Given the description of an element on the screen output the (x, y) to click on. 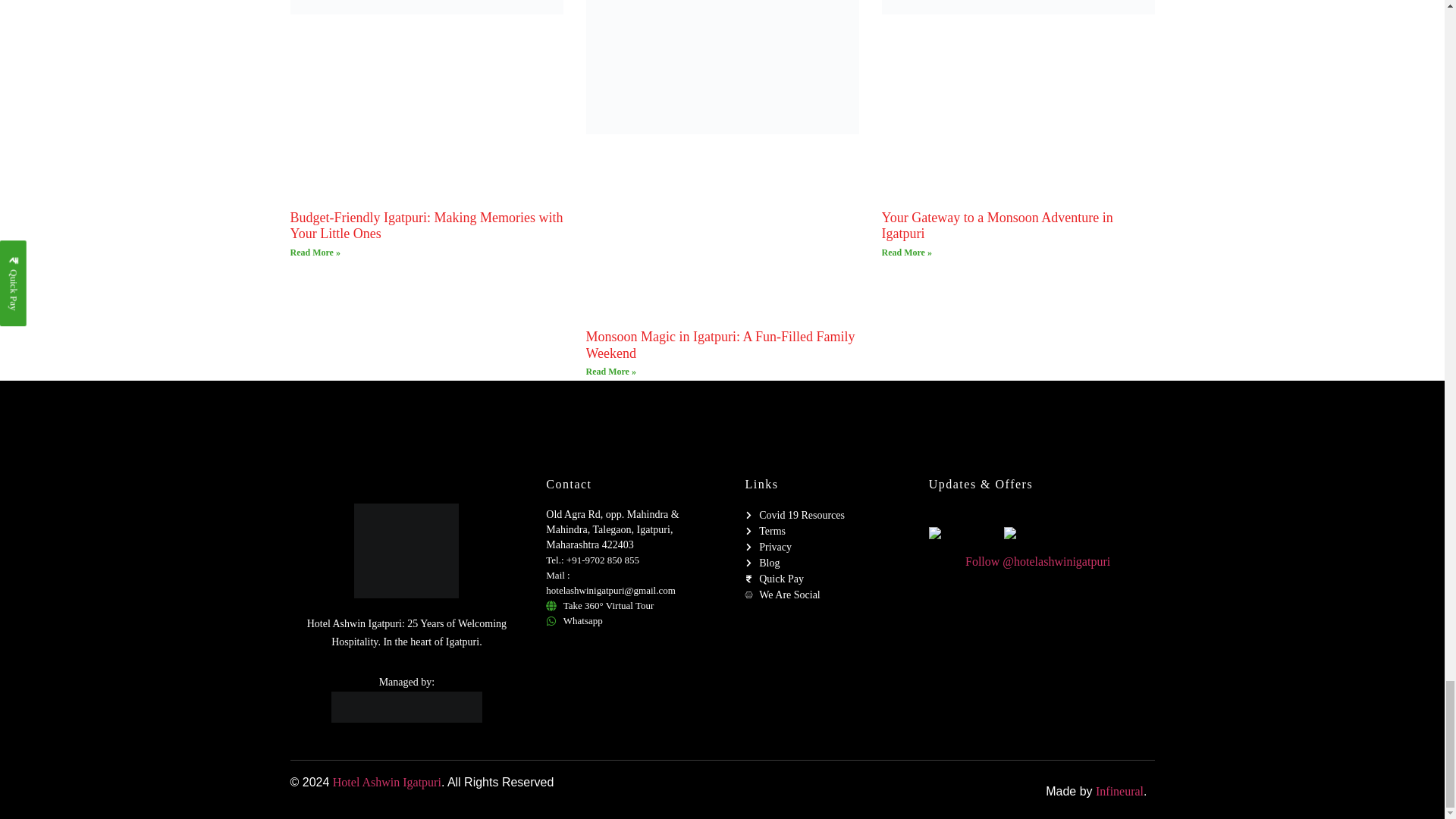
Your Gateway to a Monsoon Adventure in Igatpuri (996, 225)
Monsoon Magic in Igatpuri: A Fun-Filled Family Weekend (719, 345)
